Given the description of an element on the screen output the (x, y) to click on. 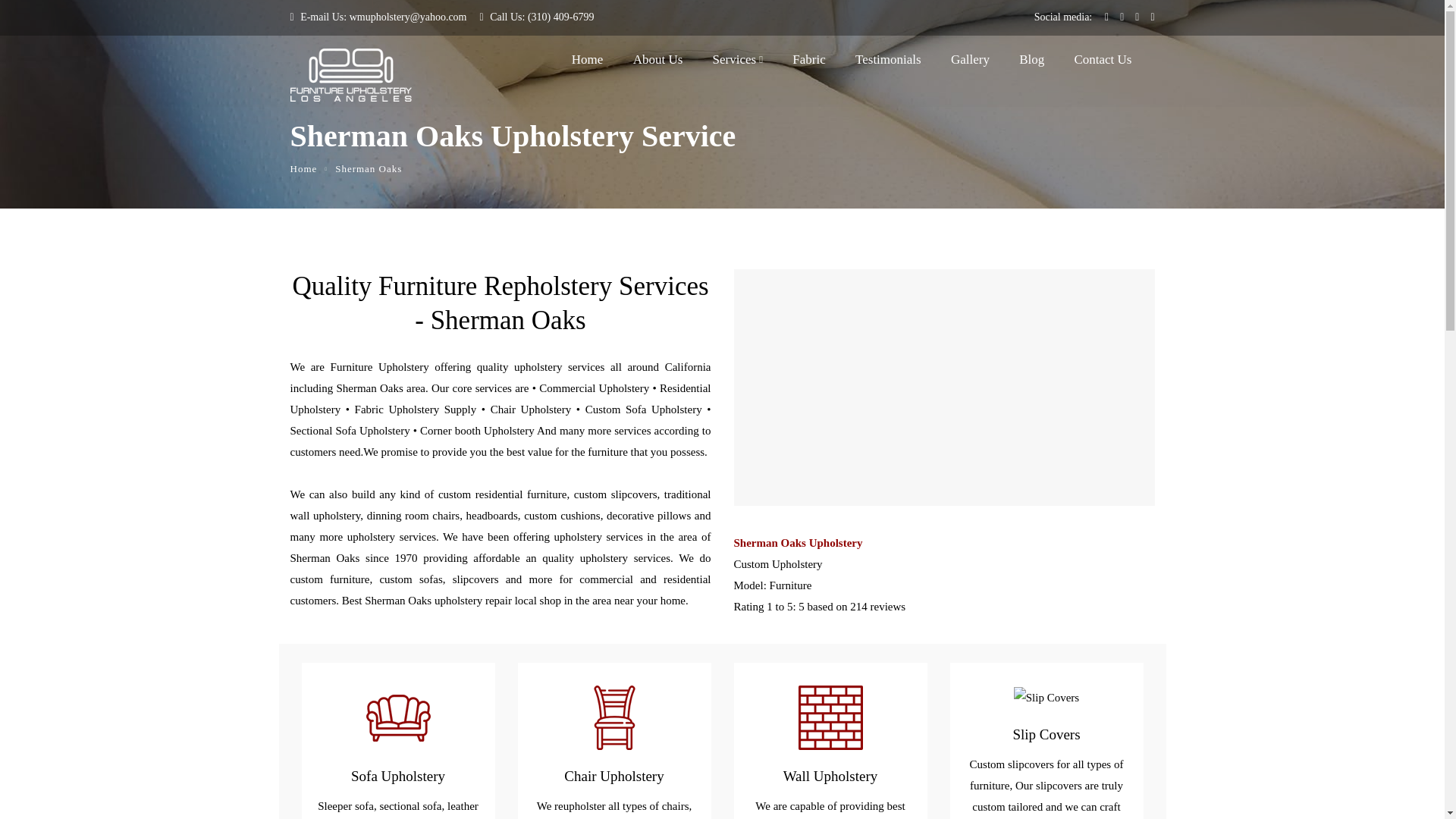
About Us (657, 62)
Contact Us (1102, 62)
Home (588, 62)
Services (737, 62)
Gallery (970, 62)
Sherman Oaks Upholstery (943, 542)
Home (303, 168)
Fabric (808, 62)
Testimonials (888, 62)
Blog (1031, 62)
